Given the description of an element on the screen output the (x, y) to click on. 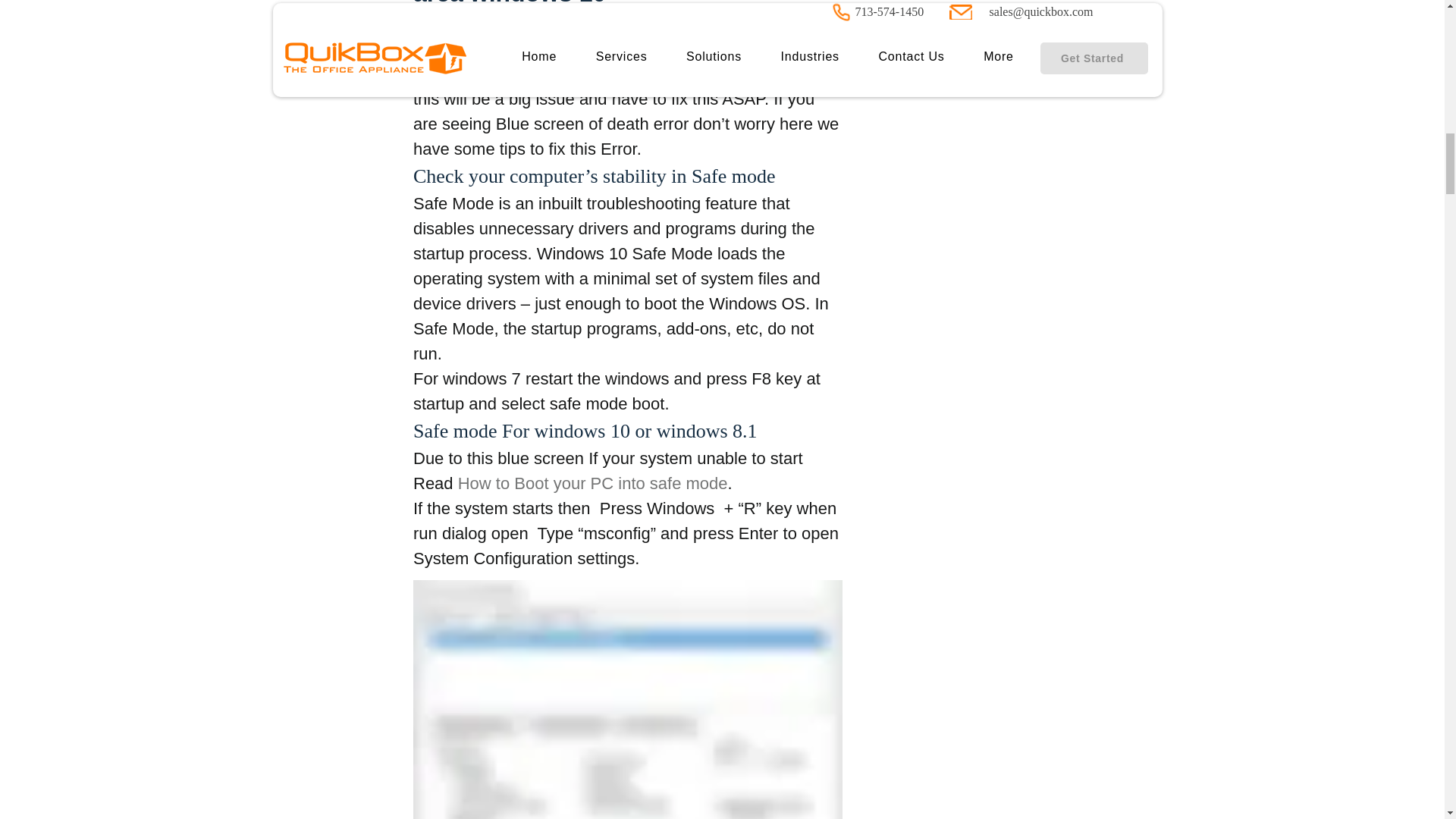
How to Boot your PC into safe mode (591, 483)
